Given the description of an element on the screen output the (x, y) to click on. 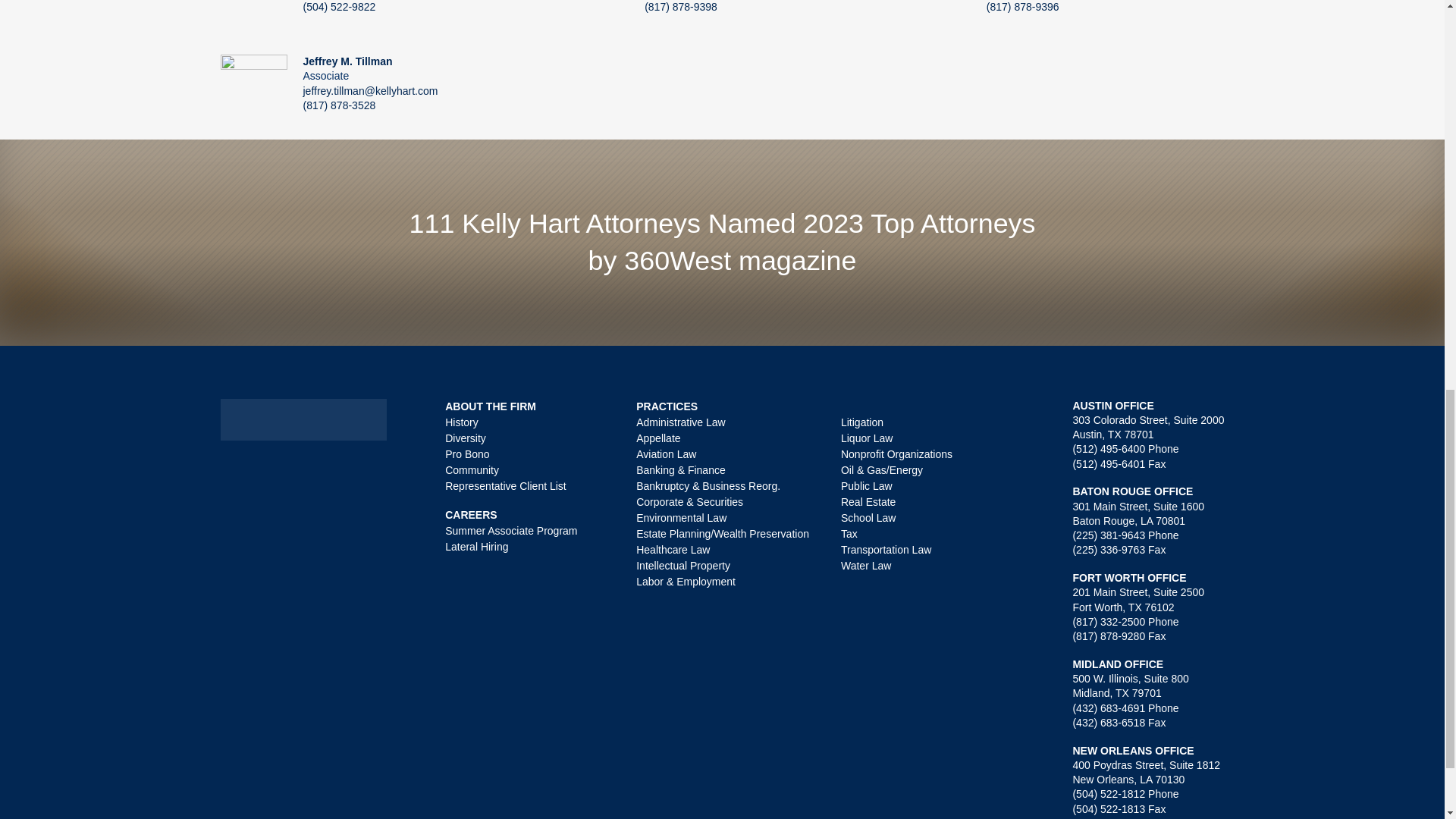
ABOUT THE FIRM (490, 406)
History (462, 421)
Pro Bono (467, 453)
Community (472, 469)
Diversity (465, 438)
Representative Client List (505, 485)
Jeffrey M. Tillman (347, 61)
